Given the description of an element on the screen output the (x, y) to click on. 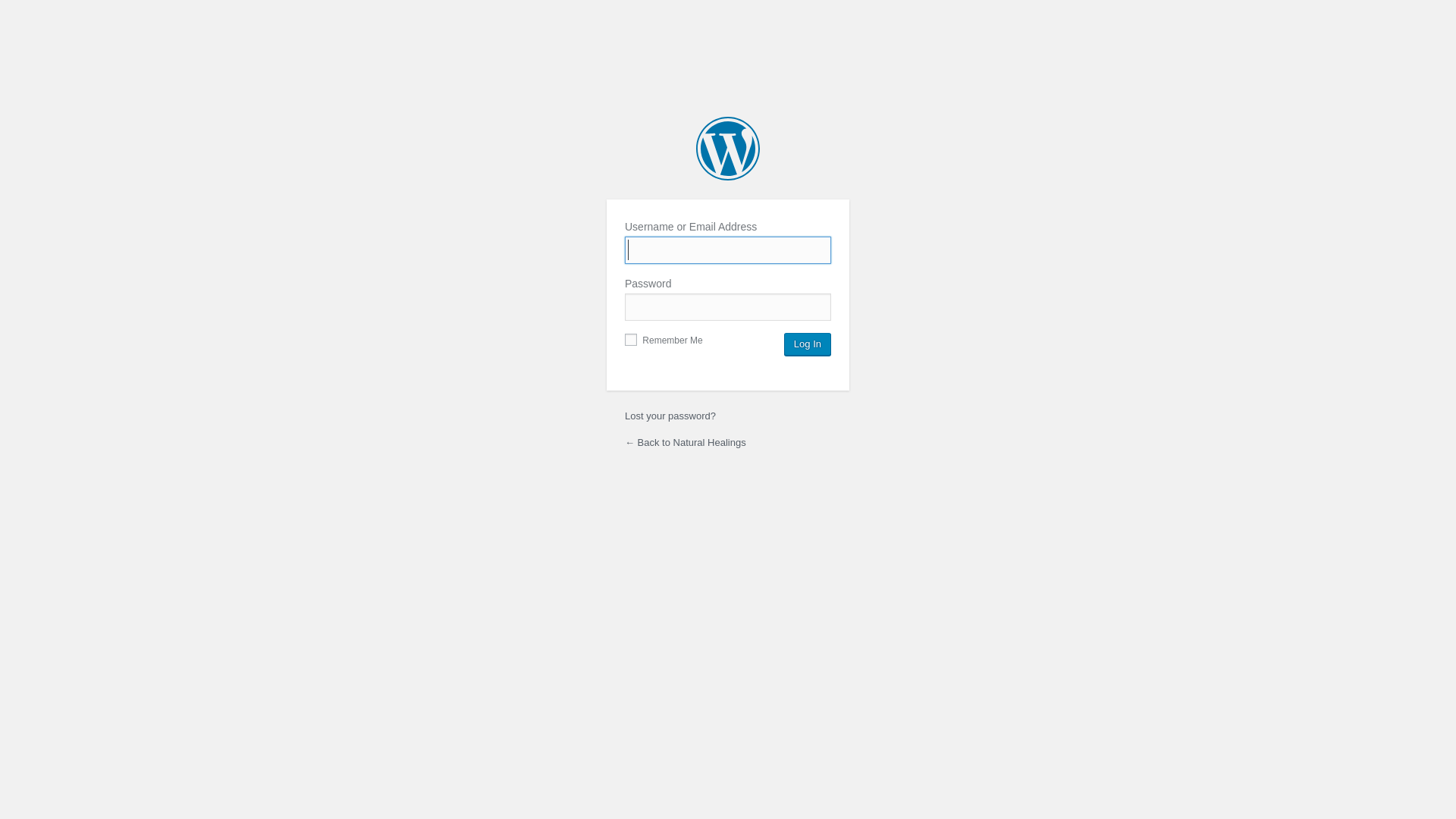
Lost your password? Element type: text (669, 415)
Log In Element type: text (807, 343)
Powered by WordPress Element type: text (727, 148)
